Given the description of an element on the screen output the (x, y) to click on. 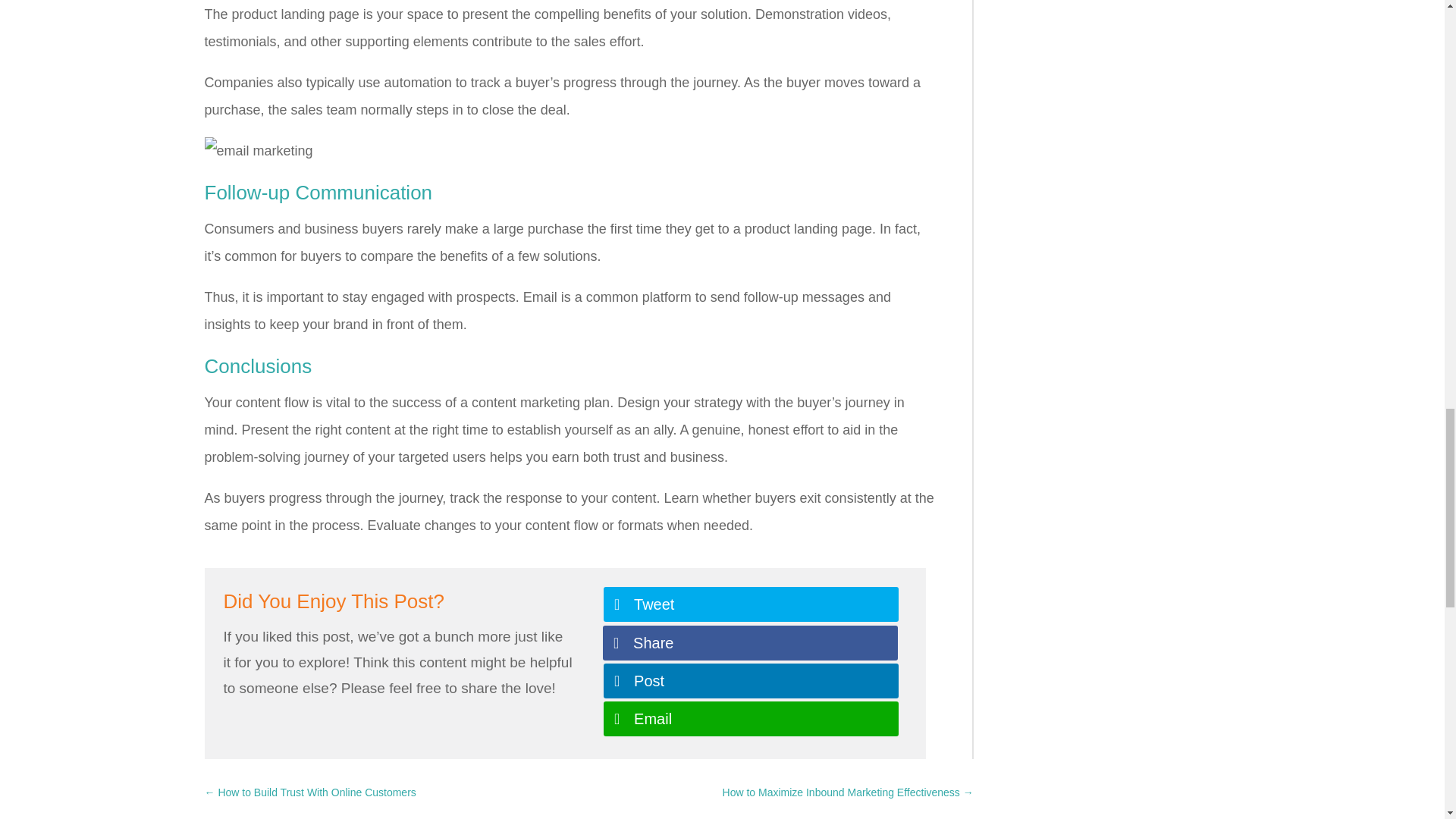
Email (751, 718)
Tweet (751, 604)
Share (750, 642)
Post (751, 680)
